Given the description of an element on the screen output the (x, y) to click on. 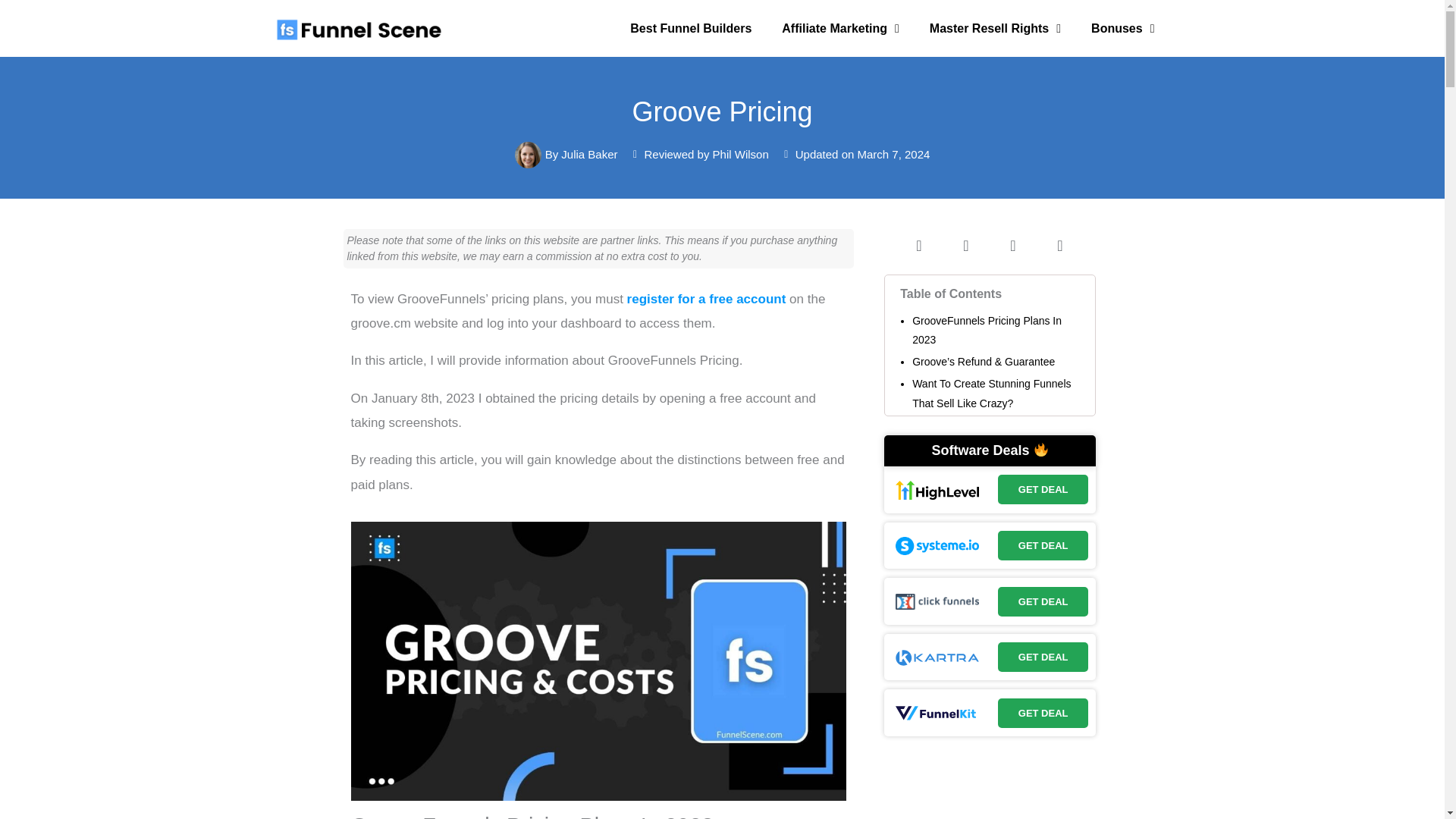
Reviewed by Phil Wilson (699, 154)
Master Resell Rights (994, 28)
Bonuses (1122, 28)
register for a free account (706, 298)
Best Funnel Builders (690, 28)
By Julia Baker (566, 154)
Affiliate Marketing (840, 28)
